Given the description of an element on the screen output the (x, y) to click on. 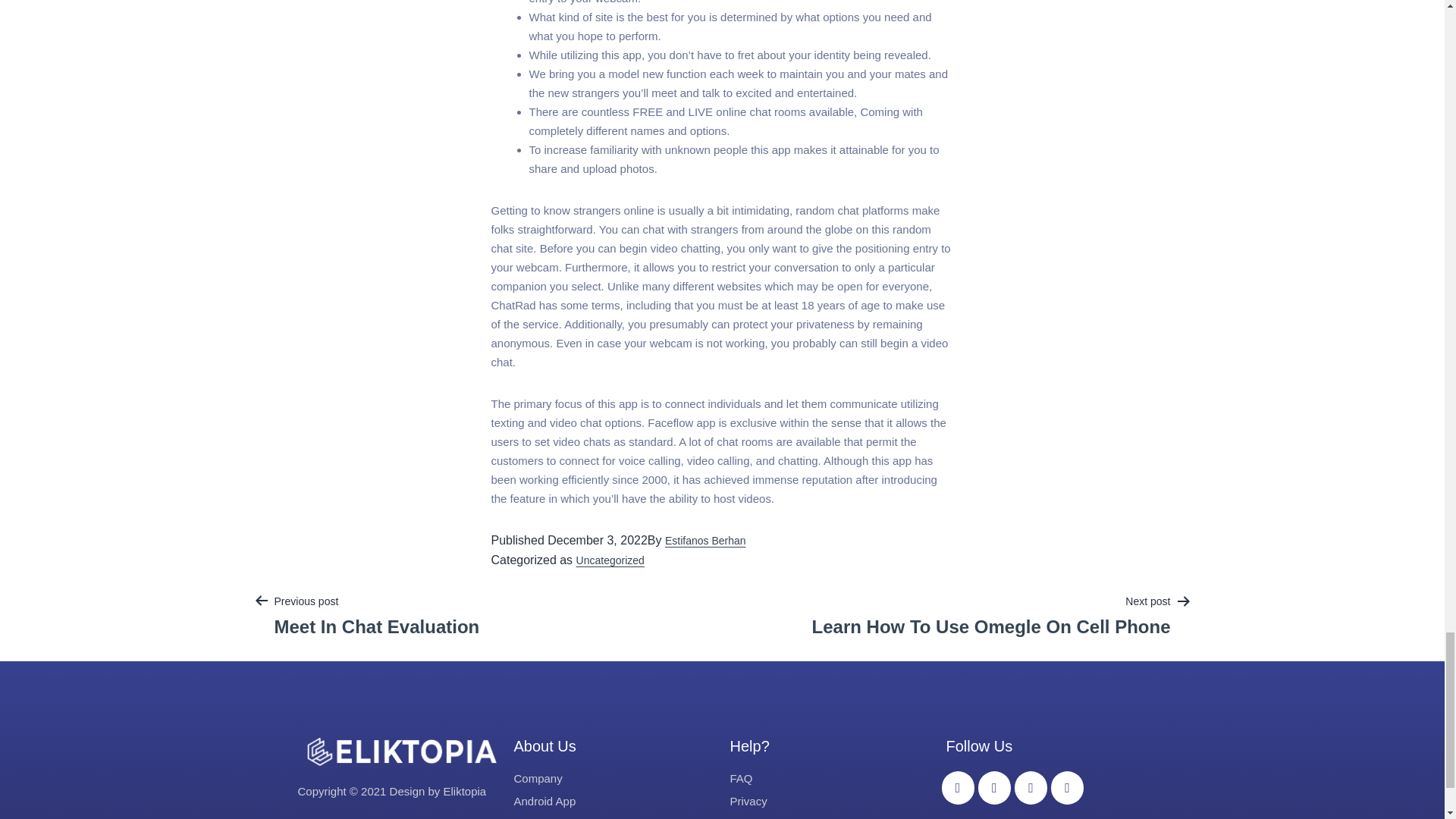
Estifanos Berhan (705, 540)
Uncategorized (610, 560)
